Given the description of an element on the screen output the (x, y) to click on. 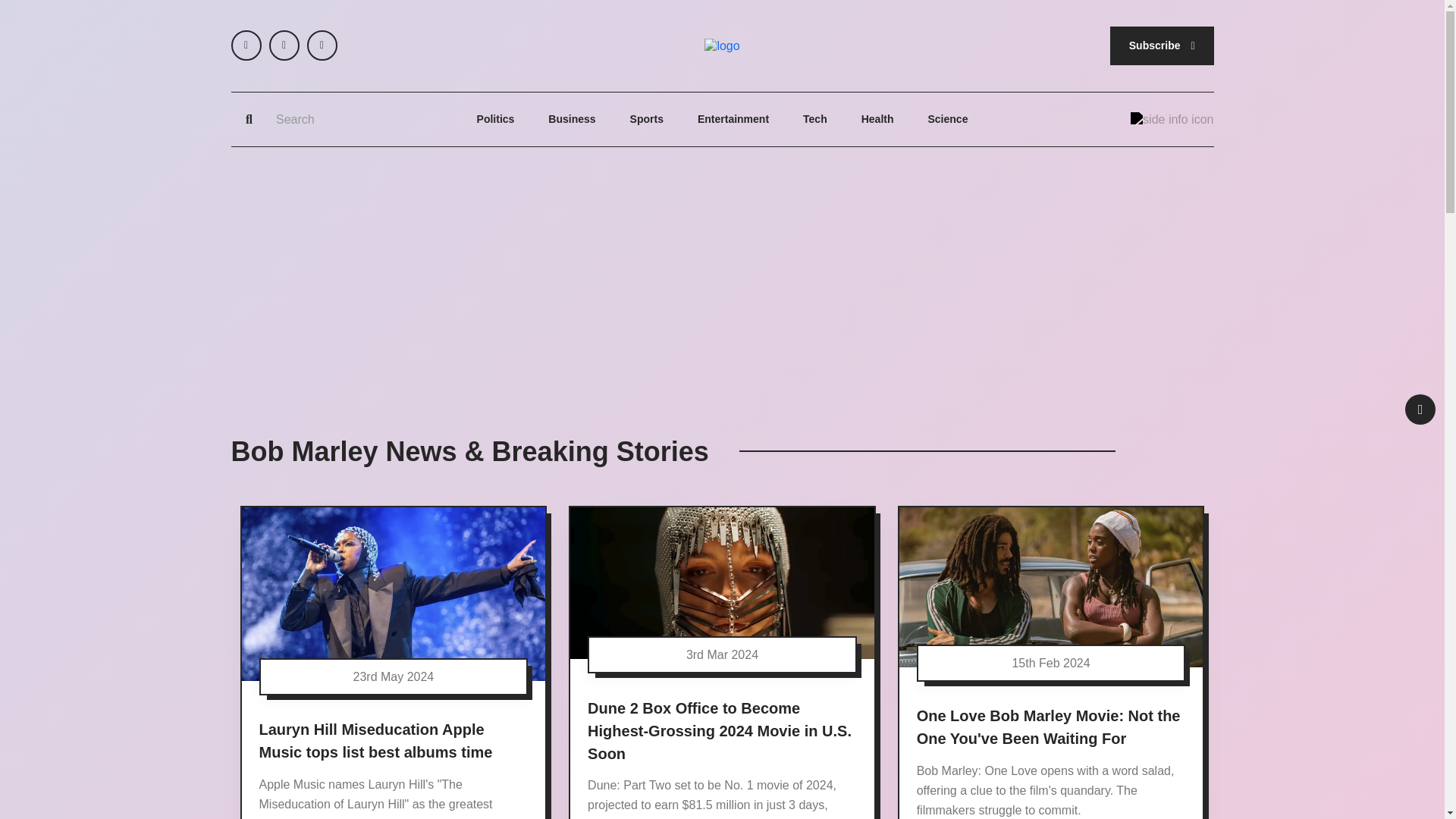
Entertainment (732, 119)
Subscribe (1161, 45)
